Given the description of an element on the screen output the (x, y) to click on. 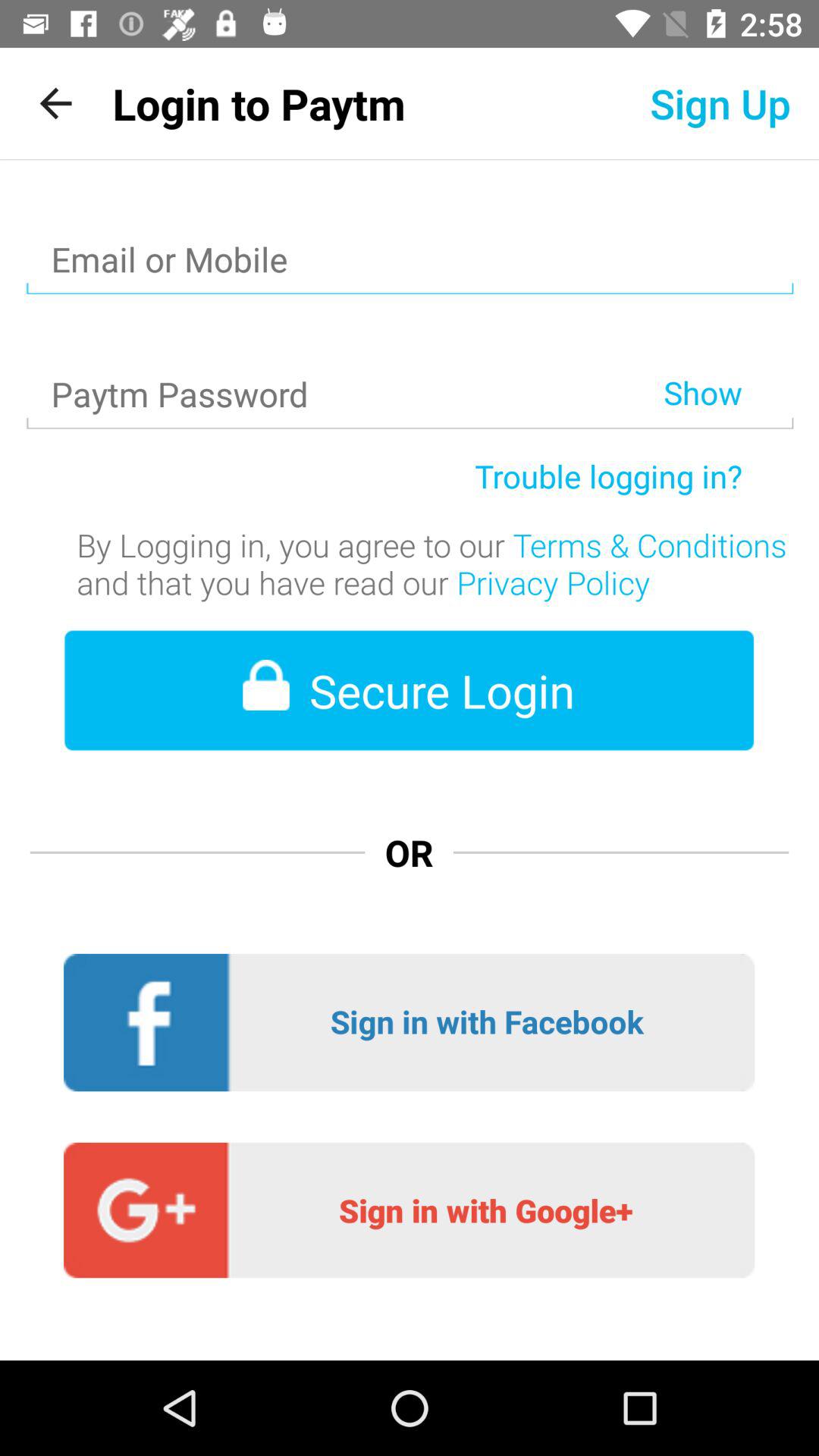
choose the app next to sign up (258, 103)
